Given the description of an element on the screen output the (x, y) to click on. 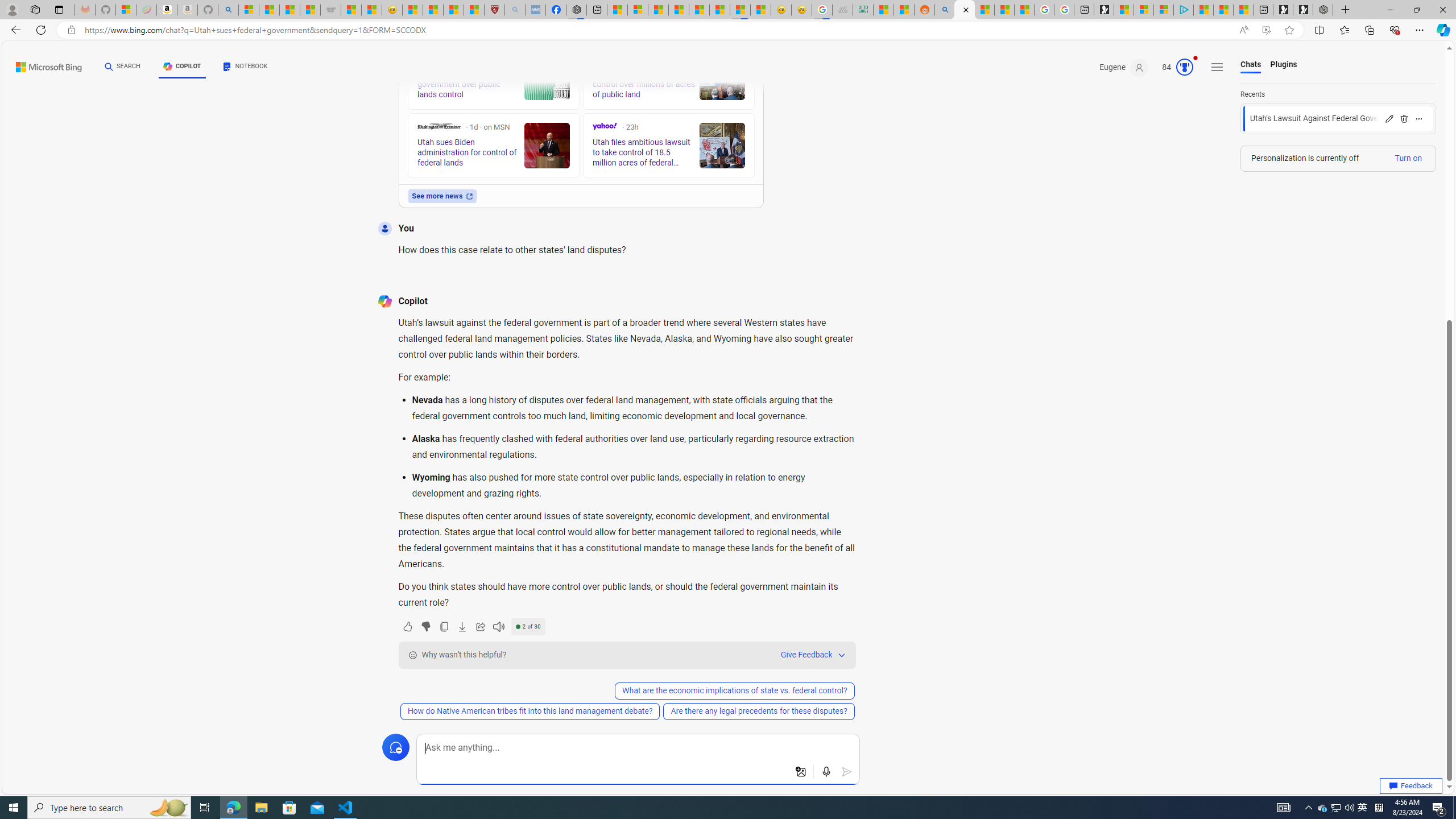
Export (461, 626)
Are there any legal precedents for these disputes? (758, 711)
COPILOT (181, 66)
Copy (442, 626)
Microsoft Rewards 84 (1173, 67)
Are there any legal precedents for these disputes? (758, 710)
